Given the description of an element on the screen output the (x, y) to click on. 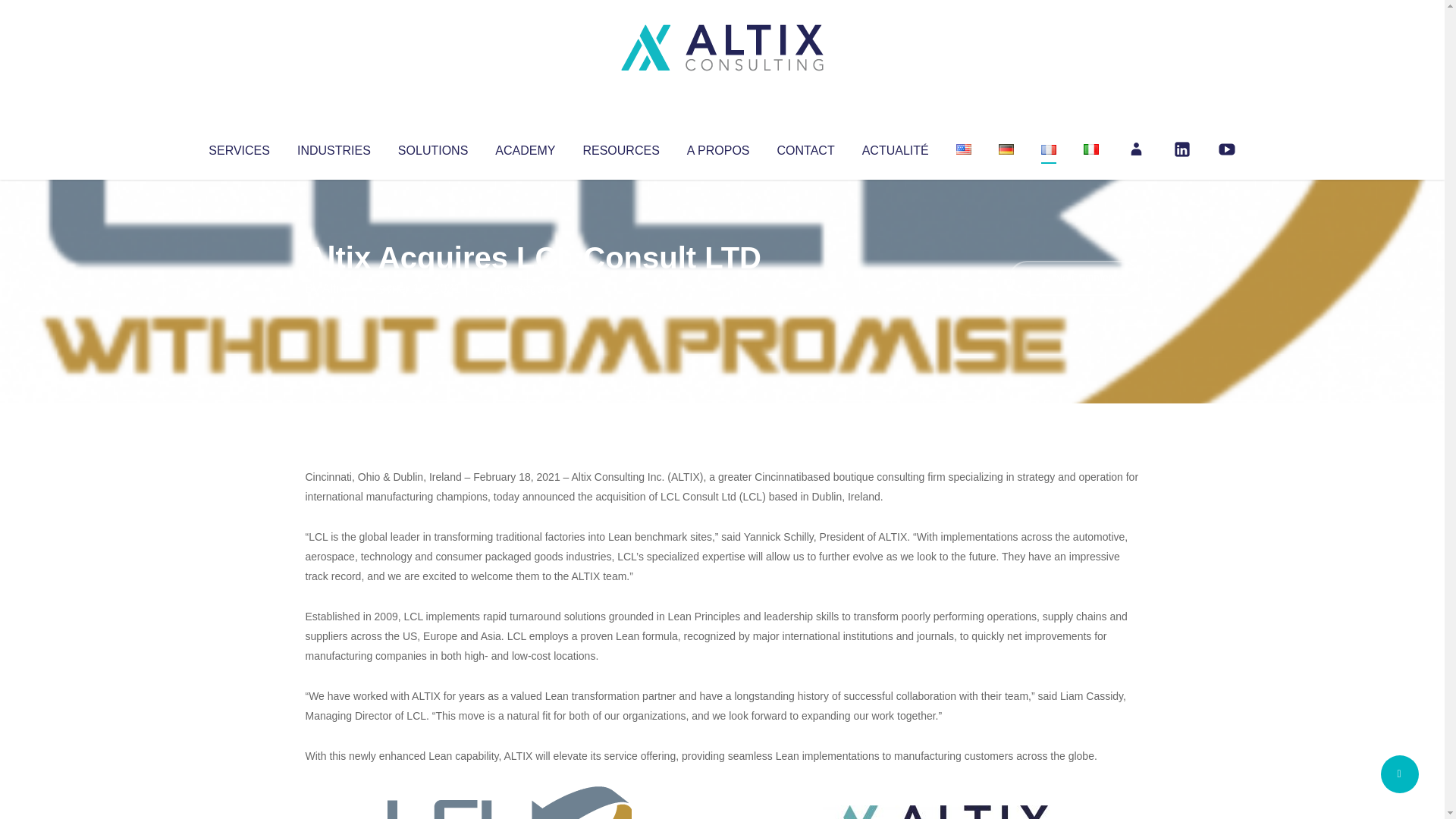
INDUSTRIES (334, 146)
SOLUTIONS (432, 146)
A PROPOS (718, 146)
ACADEMY (524, 146)
Articles par Altix (333, 287)
Altix (333, 287)
SERVICES (238, 146)
RESOURCES (620, 146)
Uncategorized (530, 287)
No Comments (1073, 278)
